Given the description of an element on the screen output the (x, y) to click on. 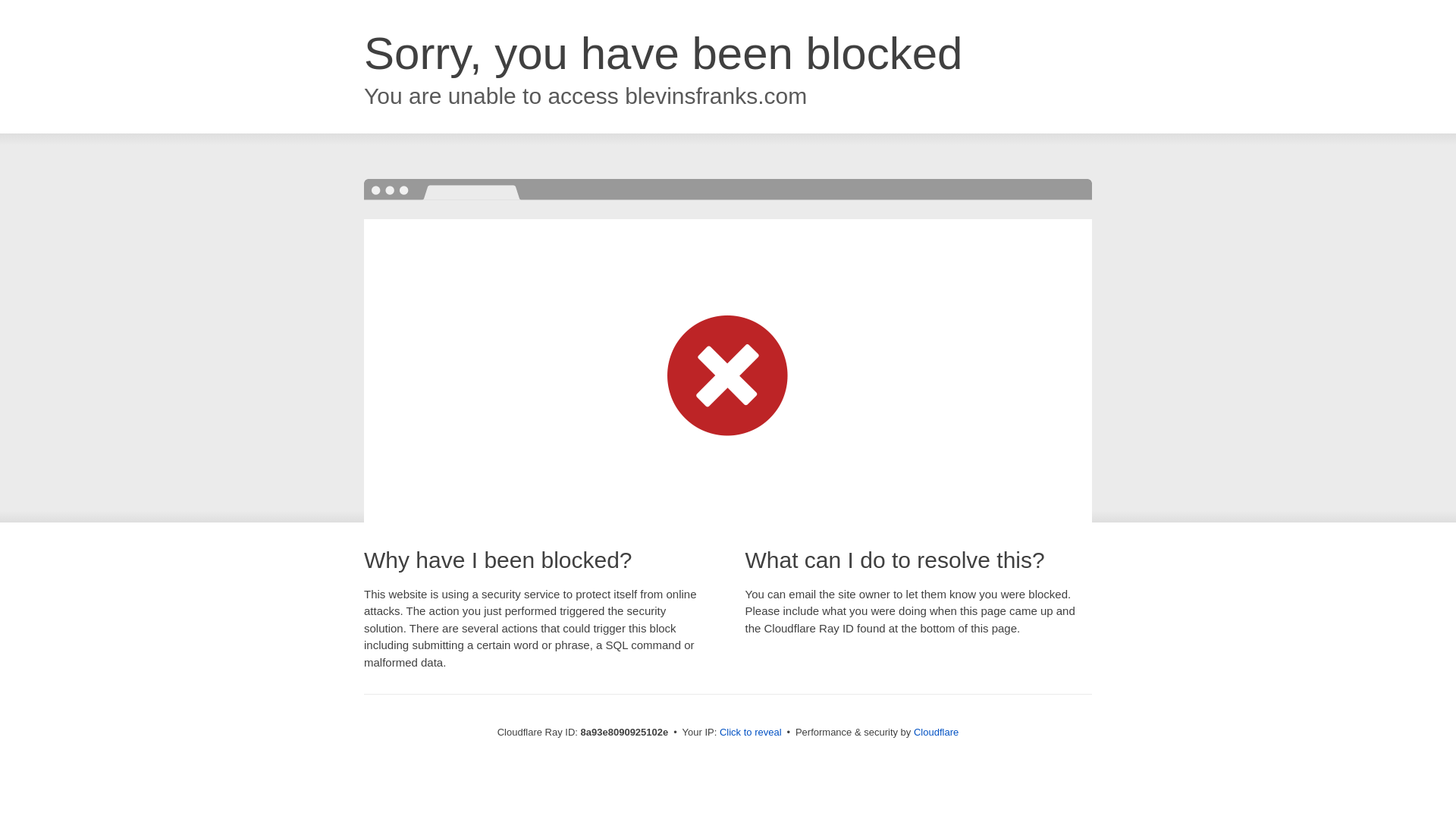
Cloudflare (936, 731)
Click to reveal (750, 732)
